Given the description of an element on the screen output the (x, y) to click on. 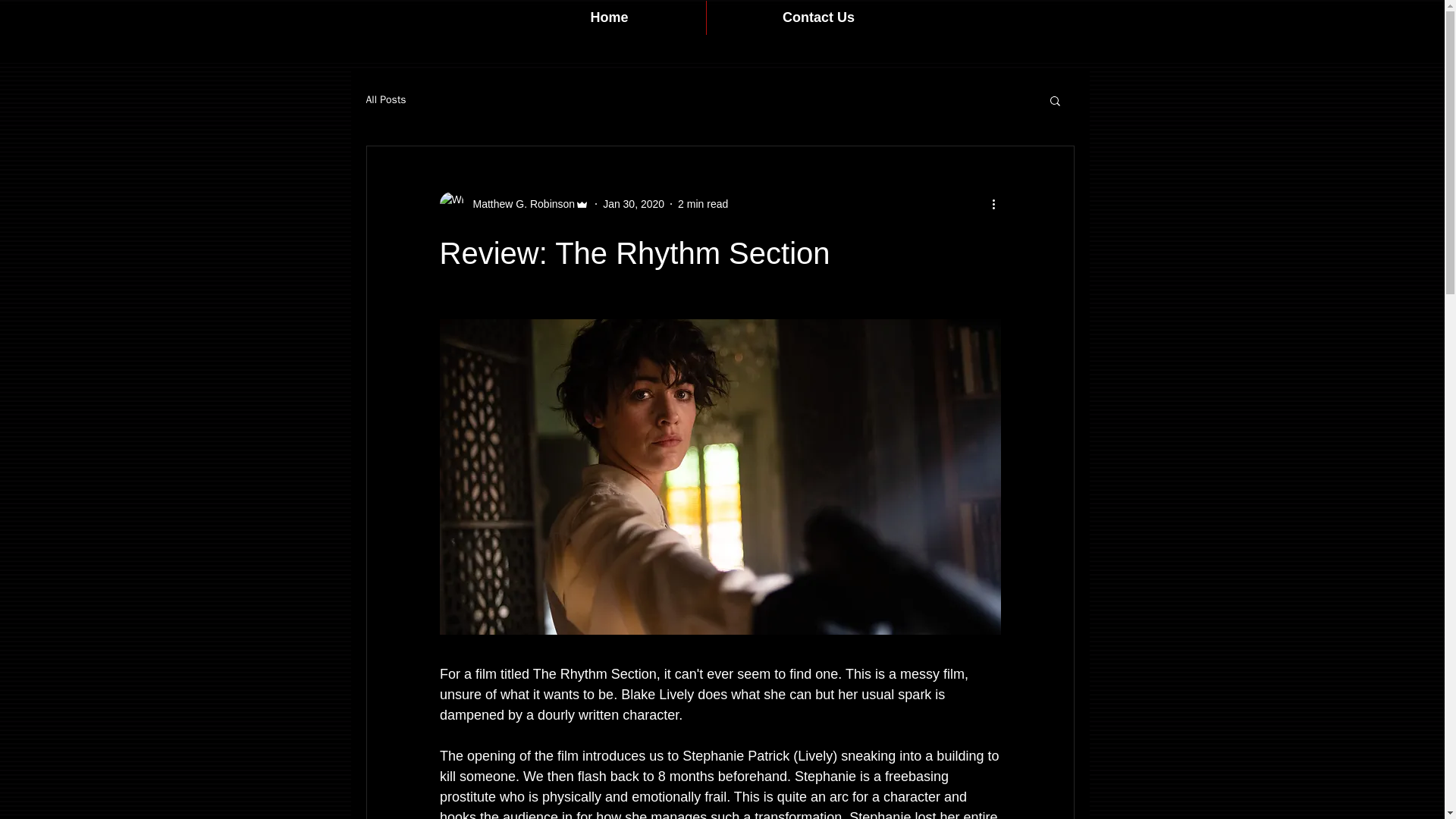
Contact Us (818, 17)
All Posts (385, 100)
2 min read (703, 203)
Matthew G. Robinson (514, 203)
Jan 30, 2020 (632, 203)
Home (608, 17)
Matthew G. Robinson (519, 203)
